Given the description of an element on the screen output the (x, y) to click on. 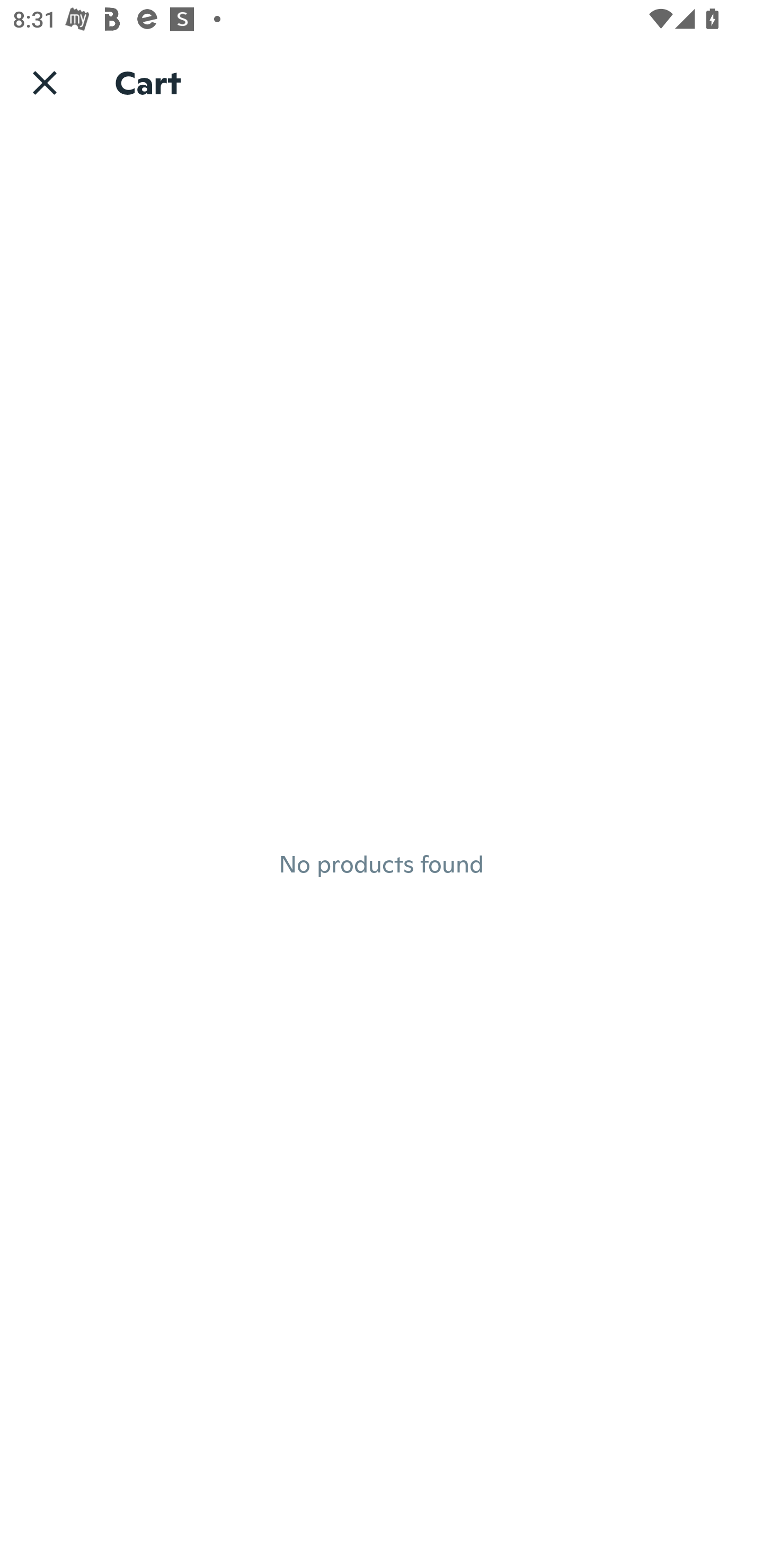
Navigate up (44, 82)
